Given the description of an element on the screen output the (x, y) to click on. 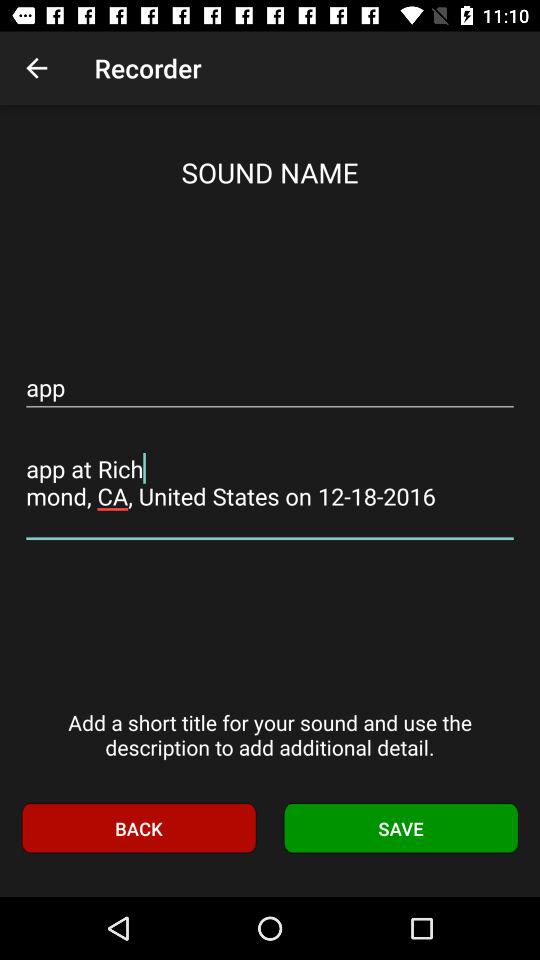
press app at rich (270, 482)
